Given the description of an element on the screen output the (x, y) to click on. 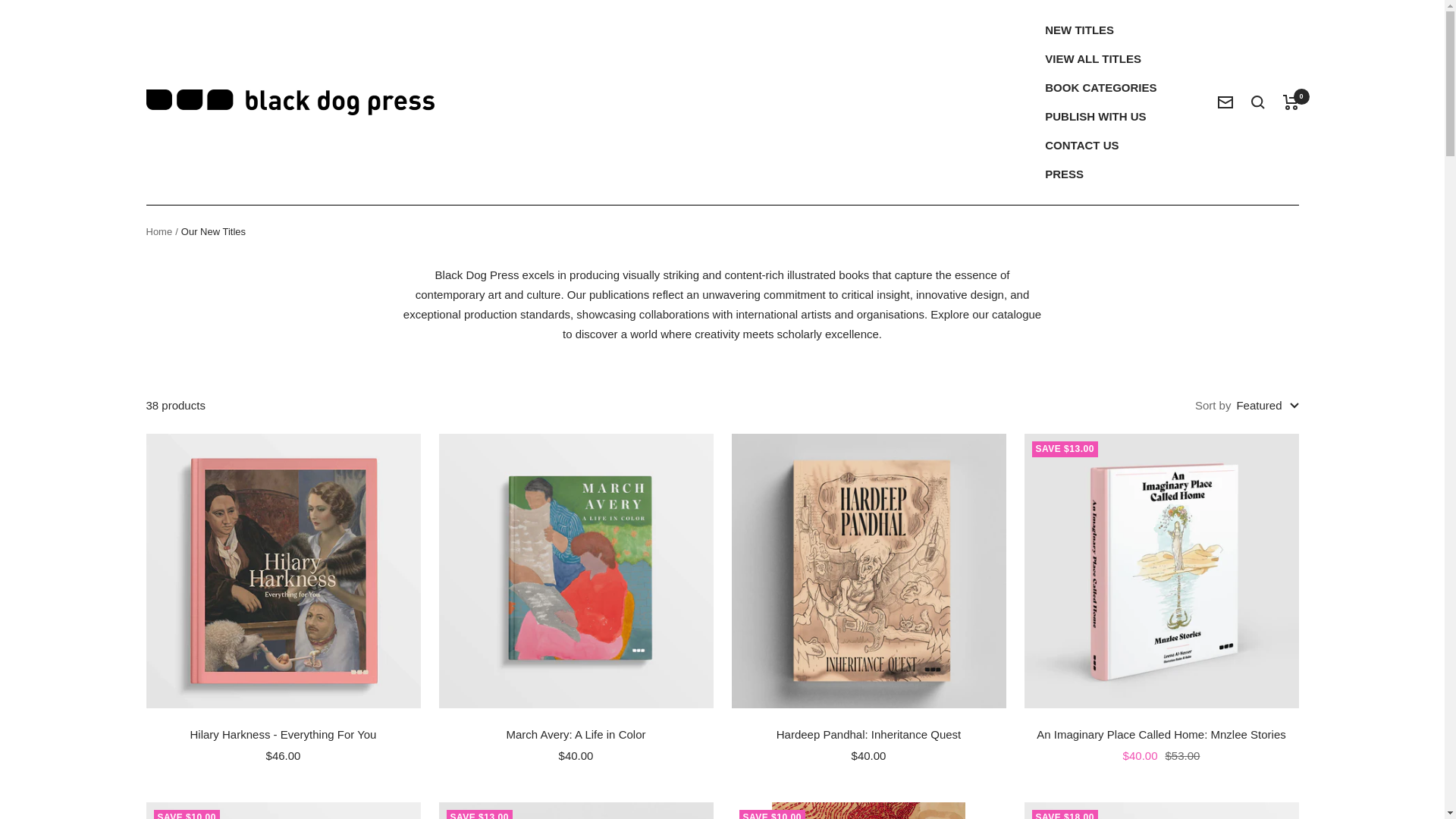
Hardeep Pandhal: Inheritance Quest (868, 734)
PRESS (1064, 174)
Black Dog Press (289, 102)
0 (1290, 102)
Newsletter (1225, 102)
An Imaginary Place Called Home: Mnzlee Stories (1160, 734)
NEW TITLES (1079, 30)
Hilary Harkness - Everything For You (282, 734)
Featured (1267, 405)
Home (158, 231)
VIEW ALL TITLES (1093, 58)
CONTACT US (1081, 145)
BOOK CATEGORIES (1100, 87)
PUBLISH WITH US (1095, 116)
March Avery: A Life in Color (575, 734)
